Given the description of an element on the screen output the (x, y) to click on. 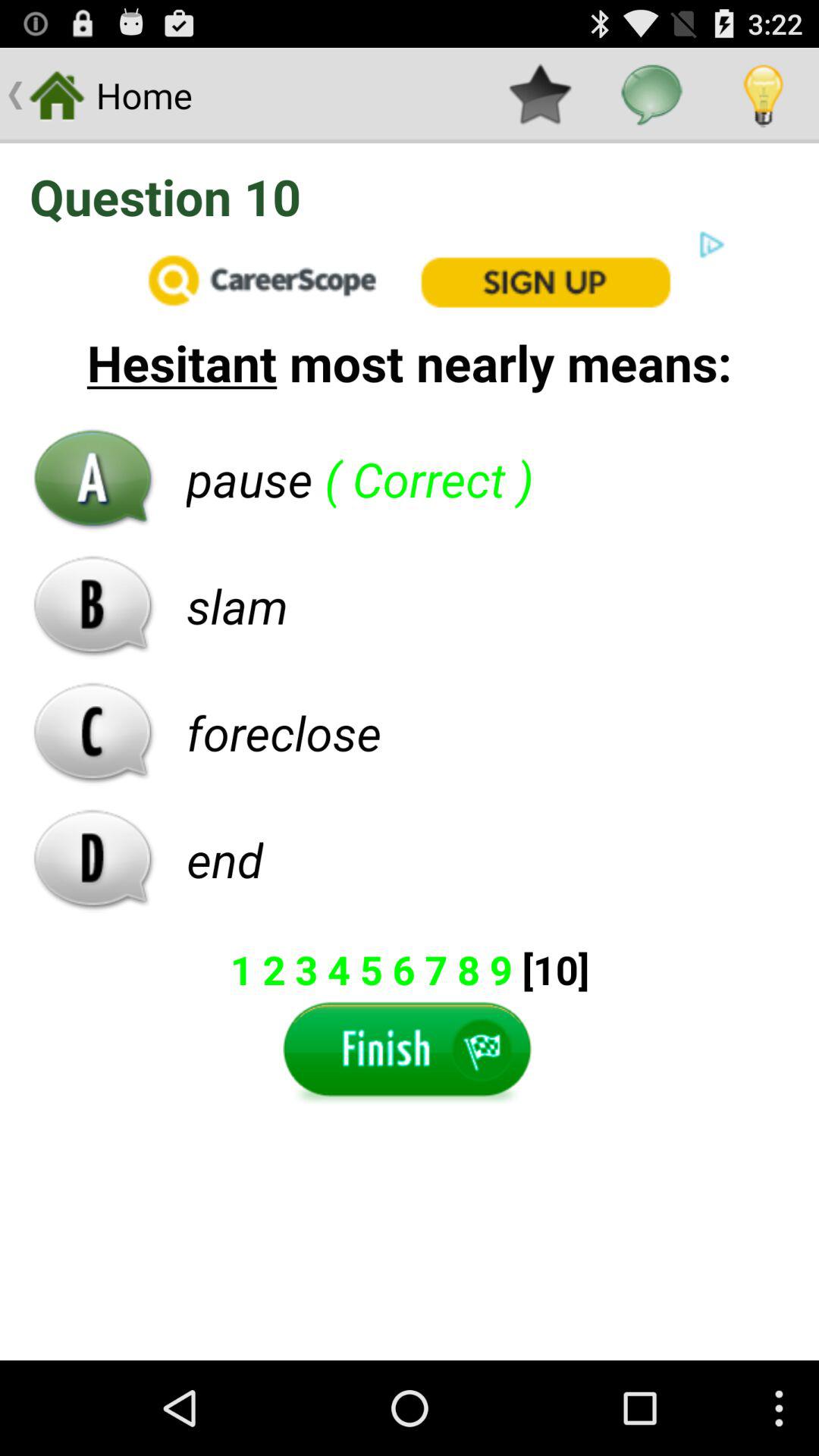
sing up option (409, 279)
